Given the description of an element on the screen output the (x, y) to click on. 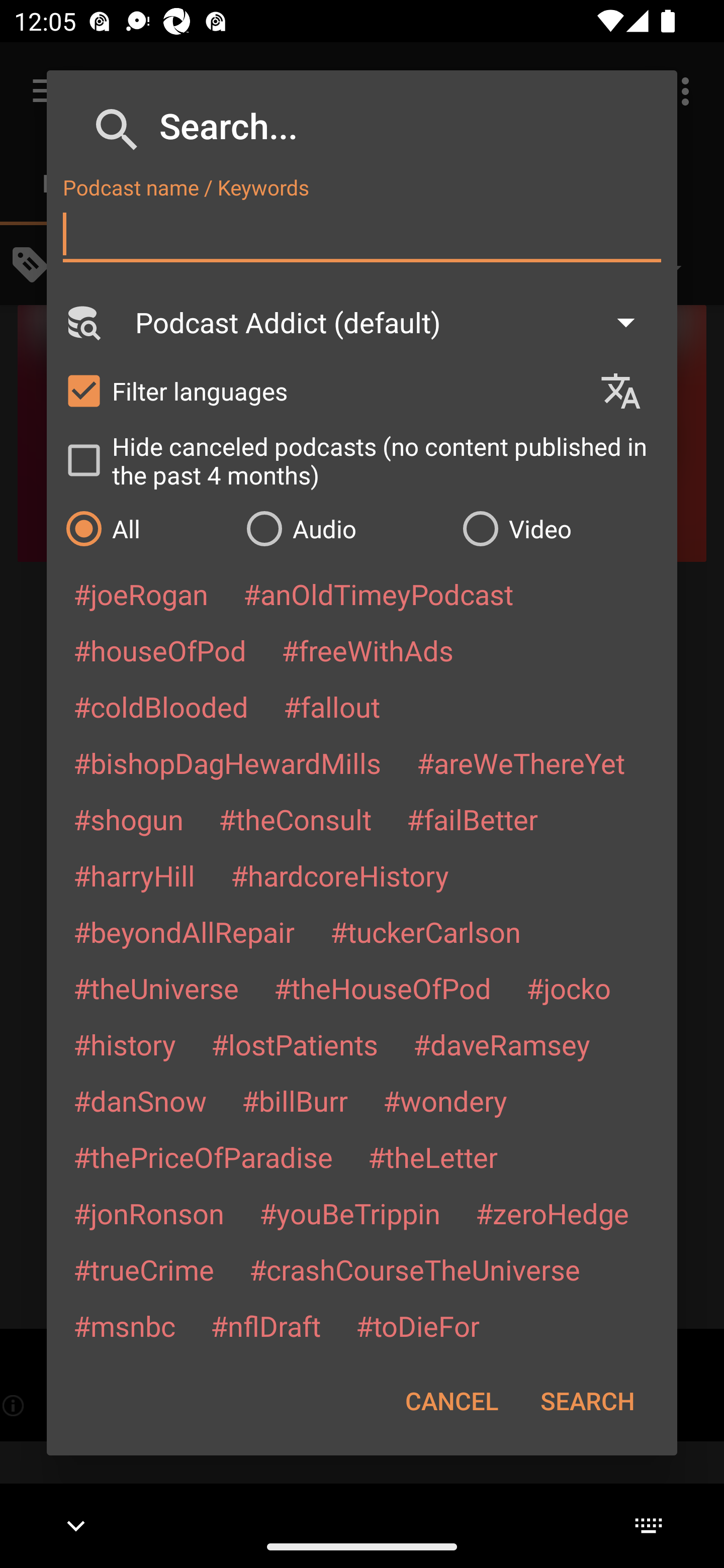
Podcast name / Keywords (361, 234)
Search Engine (82, 322)
Podcast Addict (default) (394, 322)
Languages selection (629, 390)
Filter languages (322, 390)
All (145, 528)
Audio (344, 528)
Video (560, 528)
#joeRogan (140, 594)
#anOldTimeyPodcast (378, 594)
#houseOfPod (159, 650)
#freeWithAds (367, 650)
#coldBlooded (160, 705)
#fallout (331, 705)
#bishopDagHewardMills (227, 762)
#areWeThereYet (521, 762)
#shogun (128, 818)
#theConsult (294, 818)
#failBetter (471, 818)
#harryHill (134, 875)
#hardcoreHistory (339, 875)
#beyondAllRepair (184, 931)
#tuckerCarlson (425, 931)
#theUniverse (155, 987)
#theHouseOfPod (381, 987)
#jocko (568, 987)
#history (124, 1044)
#lostPatients (294, 1044)
#daveRamsey (501, 1044)
#danSnow (139, 1100)
#billBurr (294, 1100)
#wondery (444, 1100)
#thePriceOfParadise (203, 1157)
#theLetter (432, 1157)
#jonRonson (148, 1213)
#youBeTrippin (349, 1213)
#zeroHedge (552, 1213)
#trueCrime (143, 1268)
#crashCourseTheUniverse (414, 1268)
#msnbc (124, 1325)
#nflDraft (265, 1325)
#toDieFor (417, 1325)
CANCEL (451, 1400)
SEARCH (587, 1400)
